Given the description of an element on the screen output the (x, y) to click on. 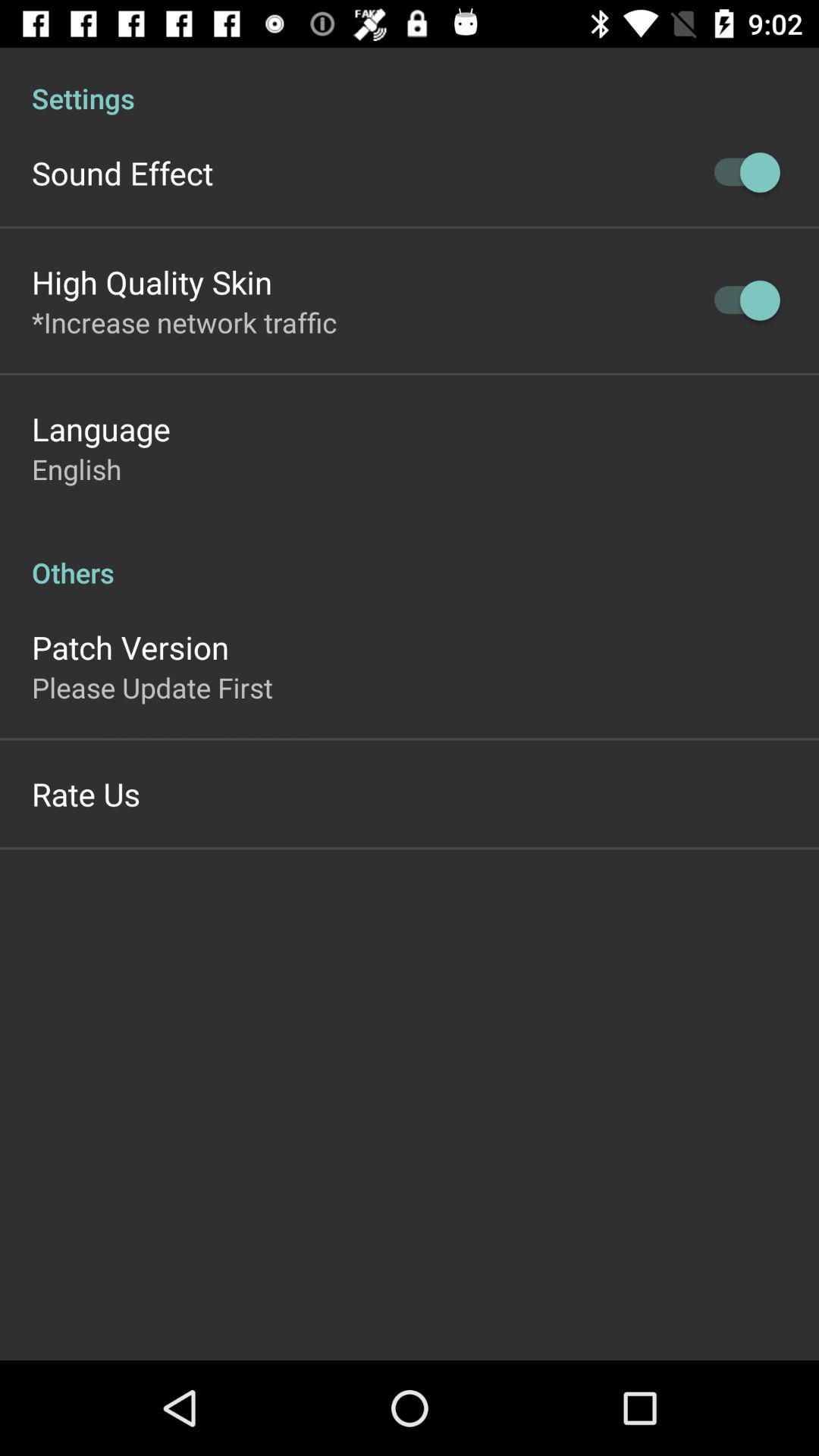
select the app above the language app (184, 322)
